Given the description of an element on the screen output the (x, y) to click on. 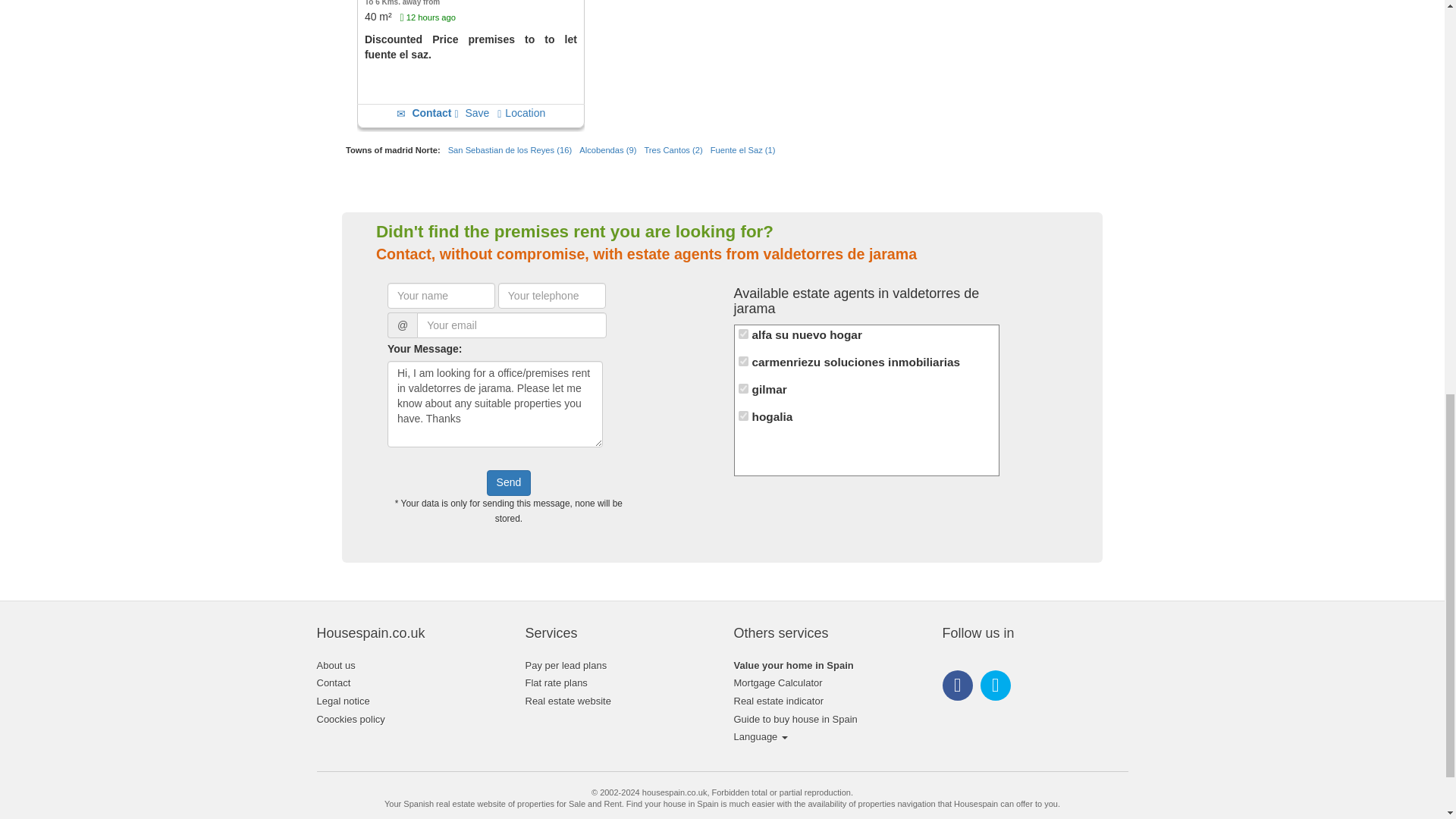
on (743, 361)
on (743, 388)
on (743, 334)
on (743, 415)
